Given the description of an element on the screen output the (x, y) to click on. 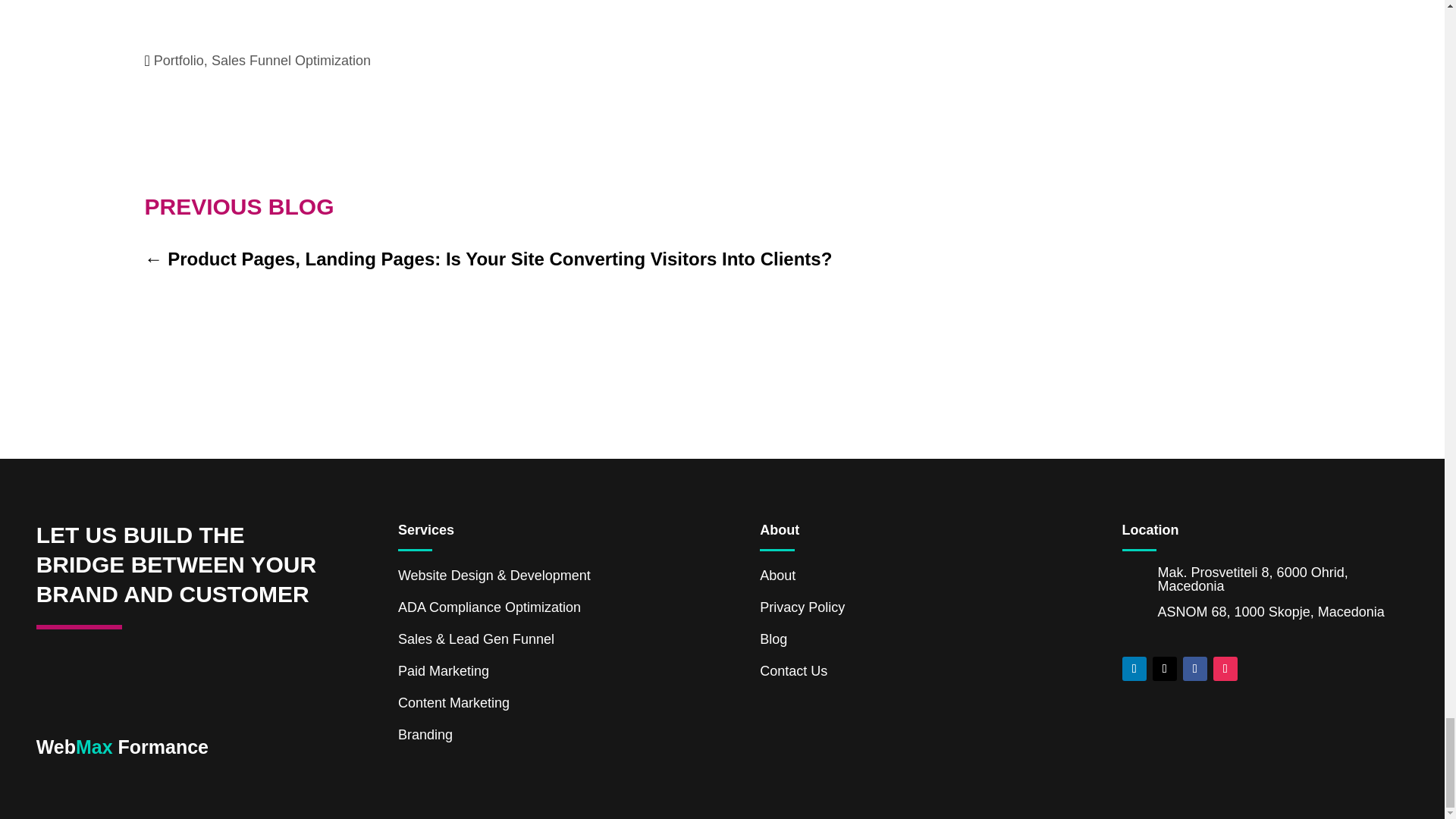
Follow on X (1164, 668)
Follow on Facebook (1194, 668)
wmf-white-logo (66, 704)
Sales Funnel Optimization (291, 60)
Follow on Instagram (1224, 668)
Follow on LinkedIn (1134, 668)
Portfolio (178, 60)
